Given the description of an element on the screen output the (x, y) to click on. 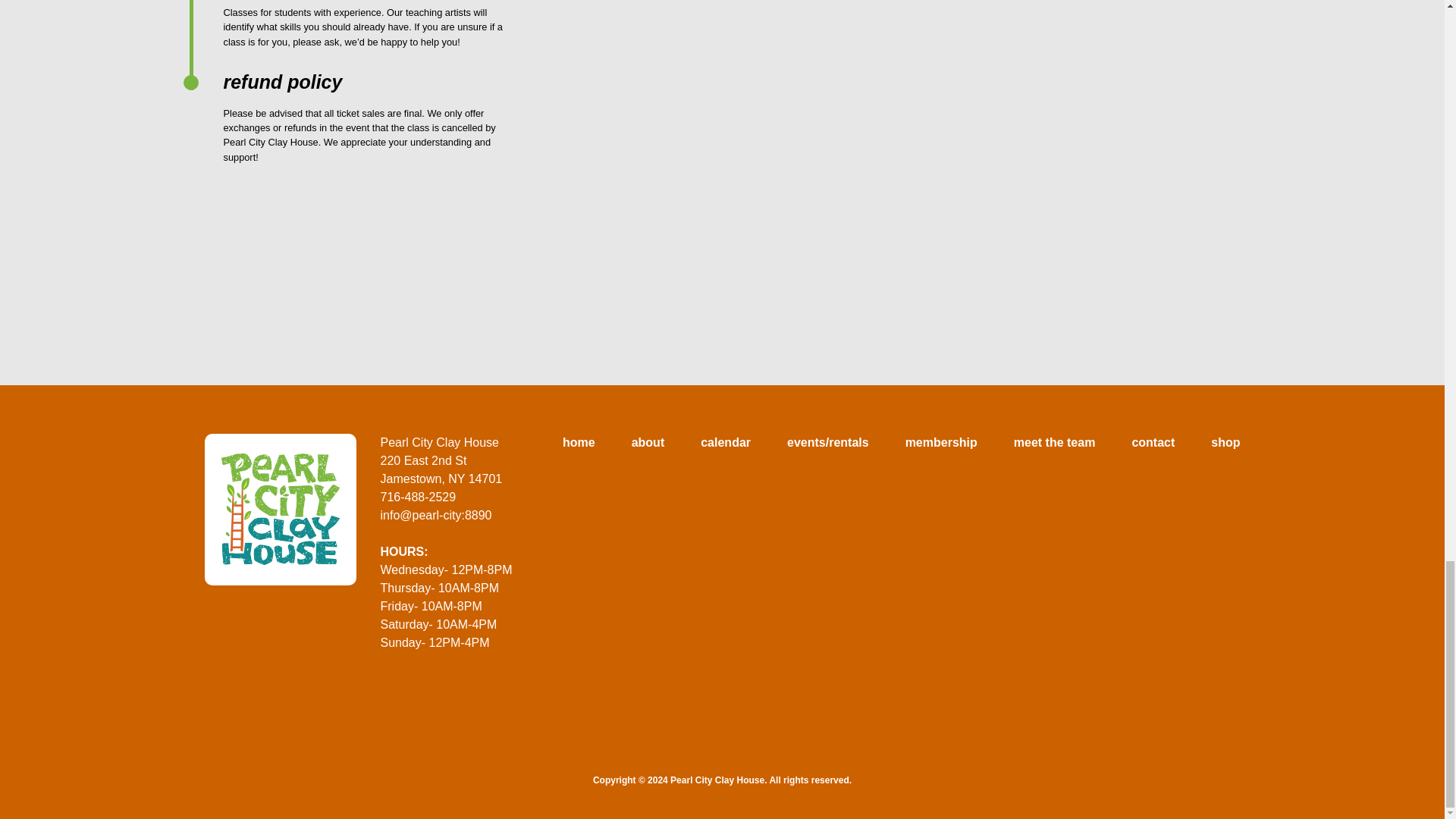
shop (1225, 443)
membership (940, 443)
calendar (725, 443)
contact (1152, 443)
home (578, 443)
about (648, 443)
meet the team (1054, 443)
